Given the description of an element on the screen output the (x, y) to click on. 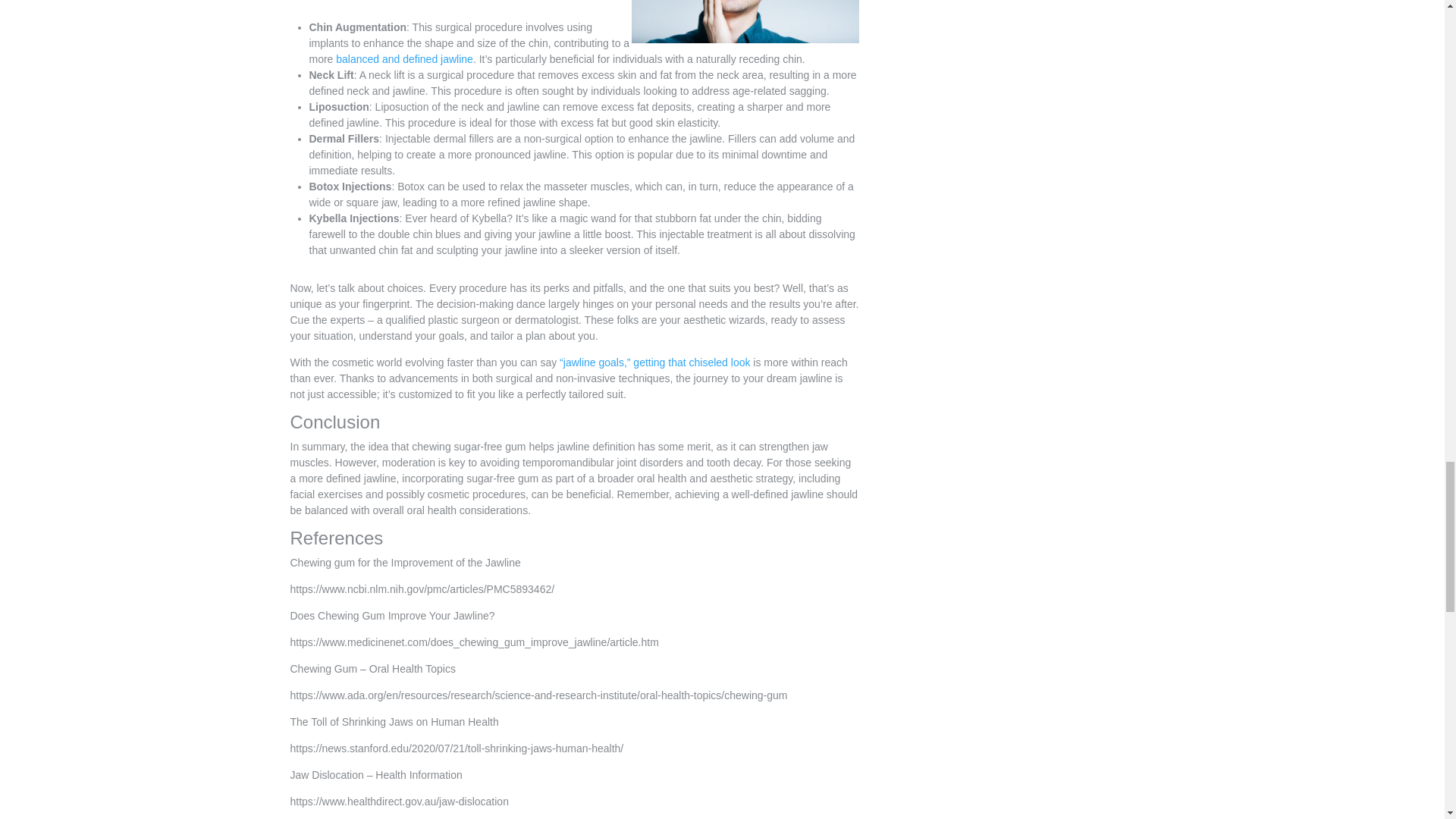
balanced and defined jawline (404, 62)
